Given the description of an element on the screen output the (x, y) to click on. 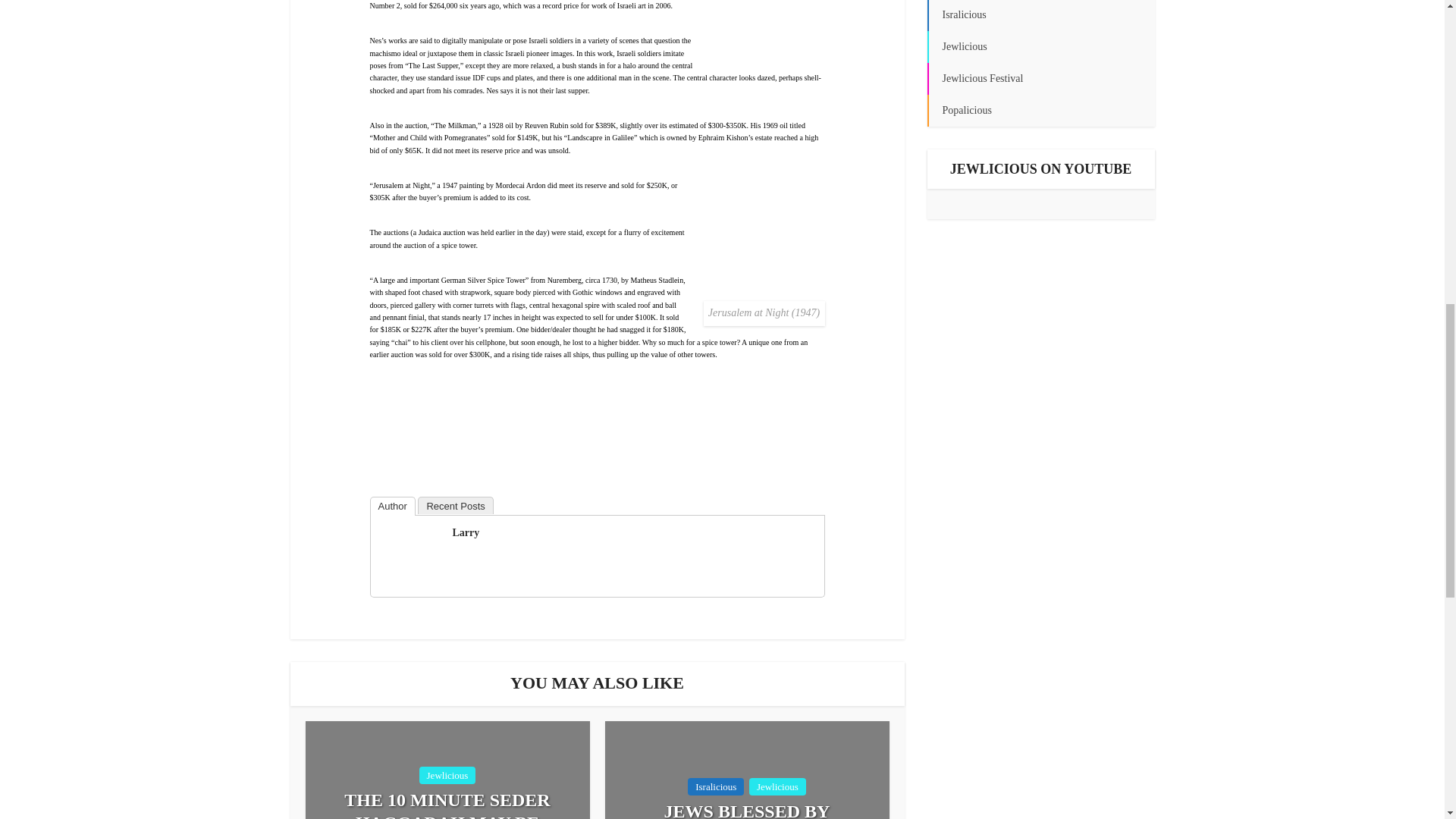
THE 10 MINUTE SEDER HAGGADAH MAY BE JUST WANT YOUR NEED (446, 803)
Larry (465, 532)
Isralicious (715, 786)
larry (408, 553)
Jews Blessed by their High Priests (747, 809)
Jewlicious (777, 786)
Author (391, 505)
JEWS BLESSED BY THEIR HIGH PRIESTS (747, 809)
Jewlicious (447, 774)
Recent Posts (455, 505)
